Given the description of an element on the screen output the (x, y) to click on. 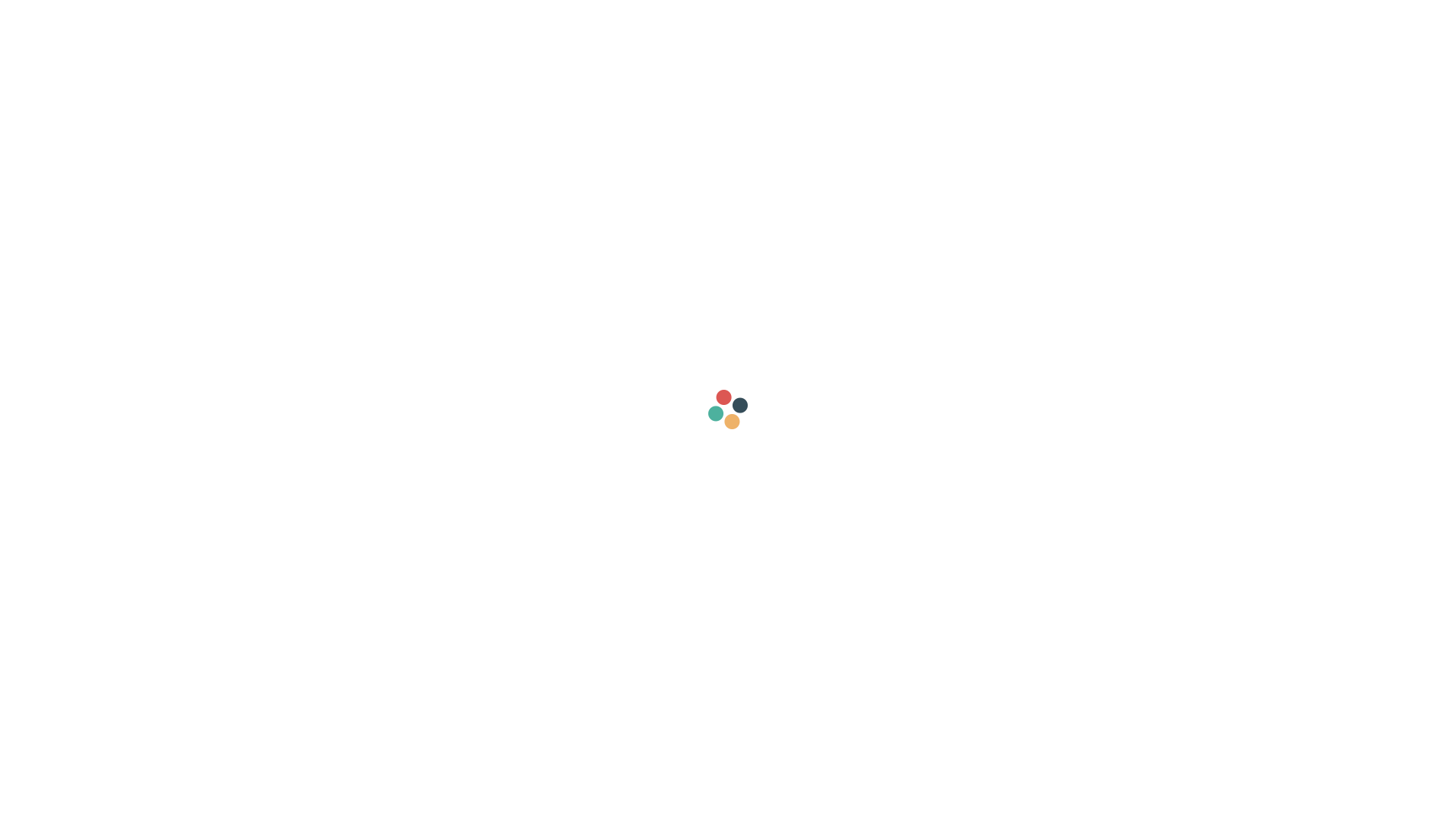
VIA PORTIMA Element type: text (727, 324)
VIA PORTIMA Element type: text (727, 322)
VIA DIGIPASS Element type: text (727, 405)
VIA DIGIPASS Element type: text (727, 407)
